Given the description of an element on the screen output the (x, y) to click on. 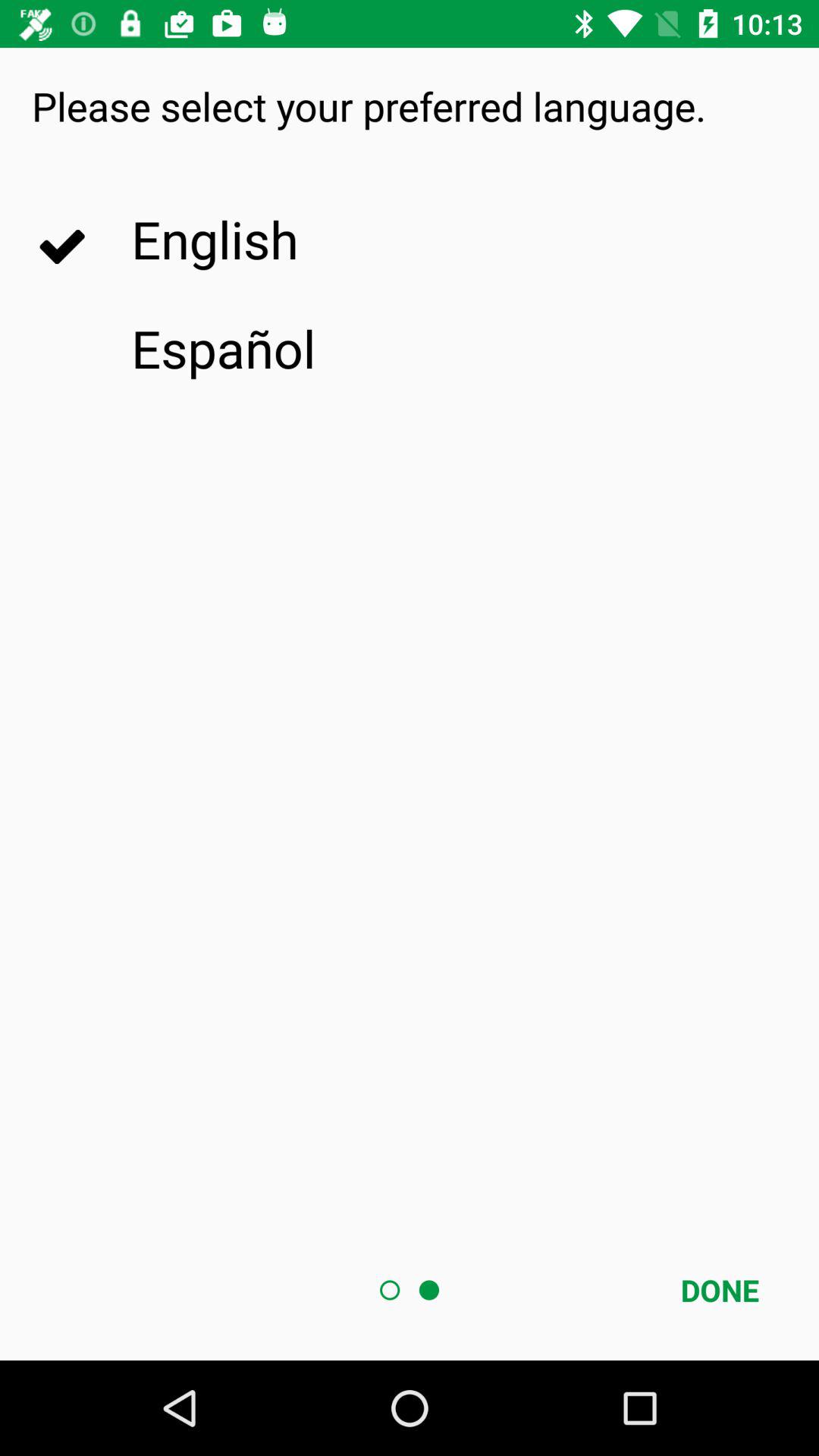
launch icon at the bottom right corner (720, 1290)
